Given the description of an element on the screen output the (x, y) to click on. 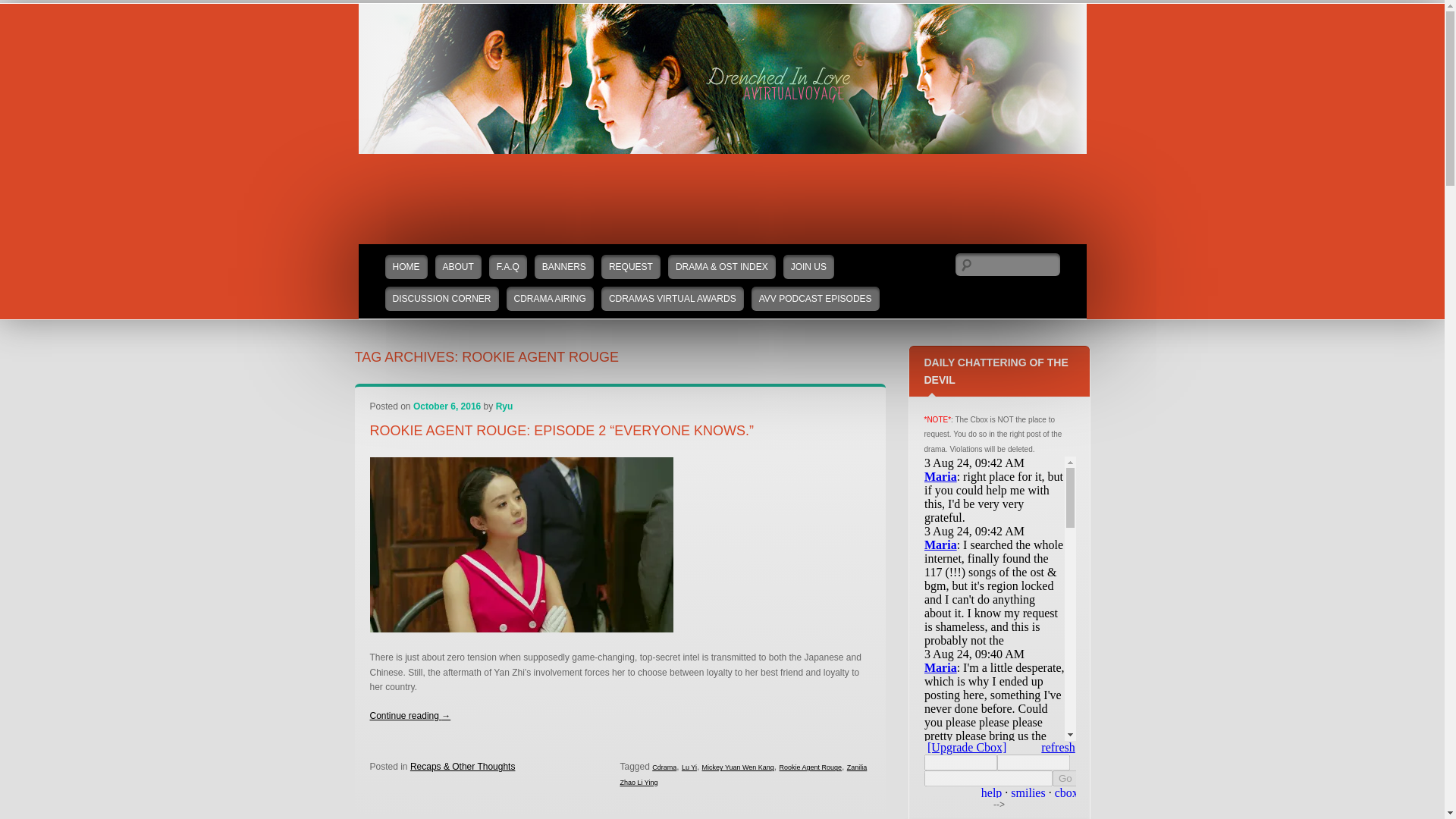
DISCUSSION CORNER (442, 298)
ABOUT (458, 266)
BANNERS (564, 266)
JOIN US (808, 266)
REQUEST (631, 266)
F.A.Q (508, 266)
Skip to primary content (404, 251)
Skip to secondary content (410, 251)
HOME (406, 266)
View all posts by Ryu (504, 406)
